Given the description of an element on the screen output the (x, y) to click on. 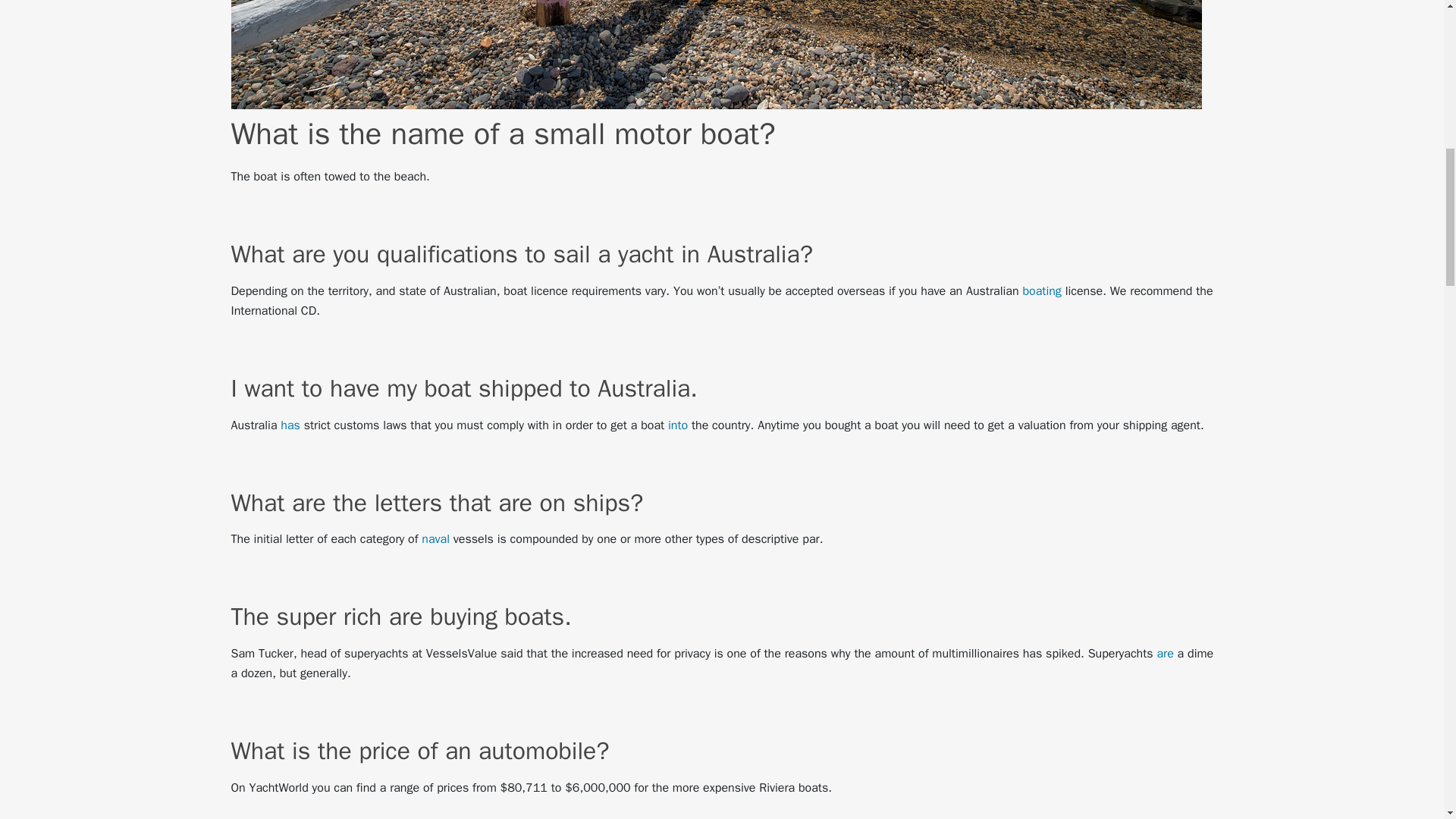
naval (435, 539)
are (1164, 653)
has (290, 425)
into (677, 425)
boating (1041, 290)
